Given the description of an element on the screen output the (x, y) to click on. 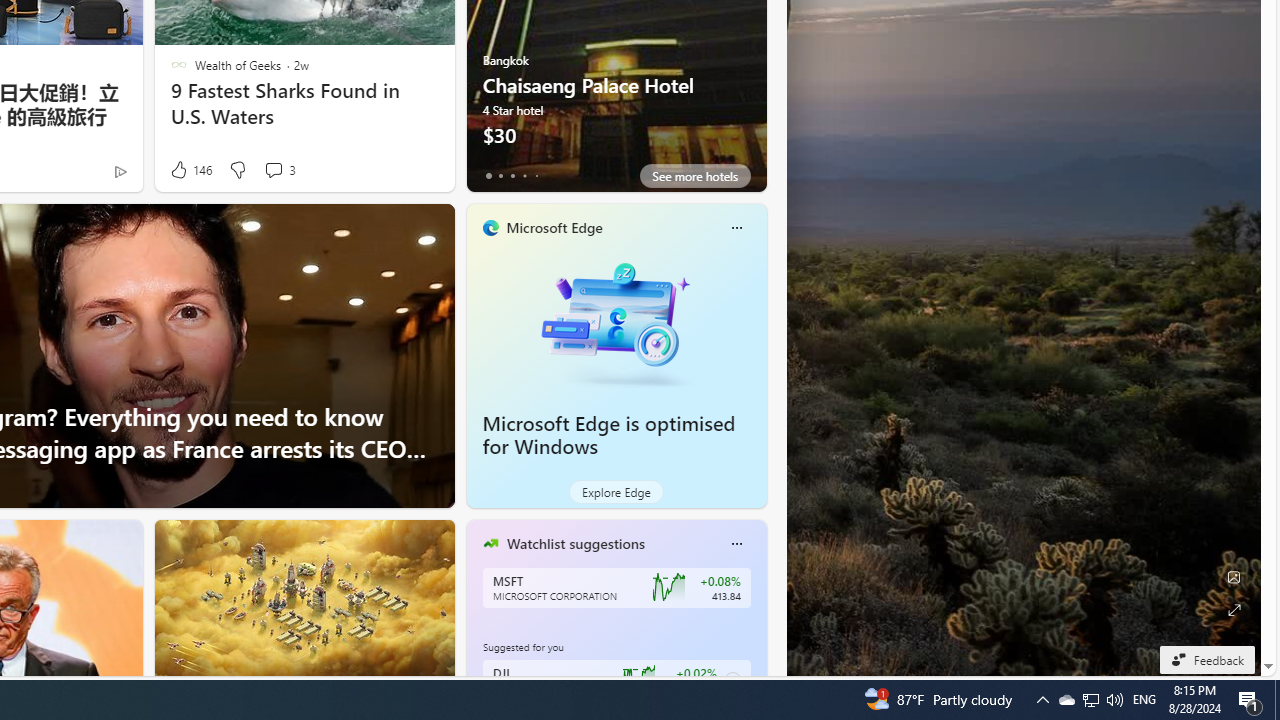
Microsoft Edge is optimised for Windows (609, 435)
See more hotels (694, 175)
Class: follow-button  m (732, 679)
Explore Edge (616, 491)
View comments 3 Comment (279, 170)
tab-3 (524, 175)
Edit Background (1233, 577)
Expand background (1233, 610)
tab-4 (535, 175)
Watchlist suggestions (575, 543)
Microsoft Edge is optimised for Windows (616, 321)
